Given the description of an element on the screen output the (x, y) to click on. 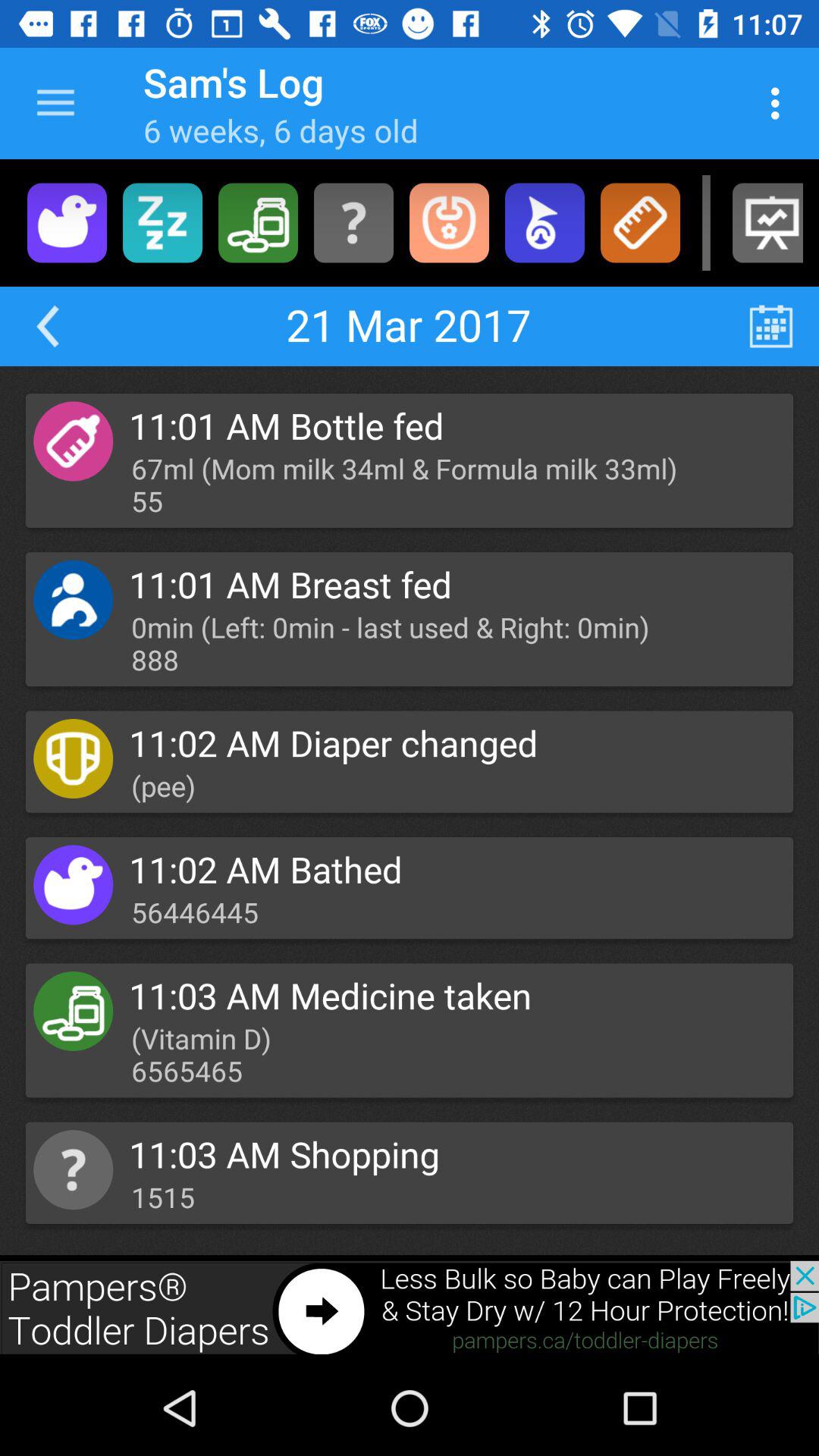
bib (449, 222)
